Given the description of an element on the screen output the (x, y) to click on. 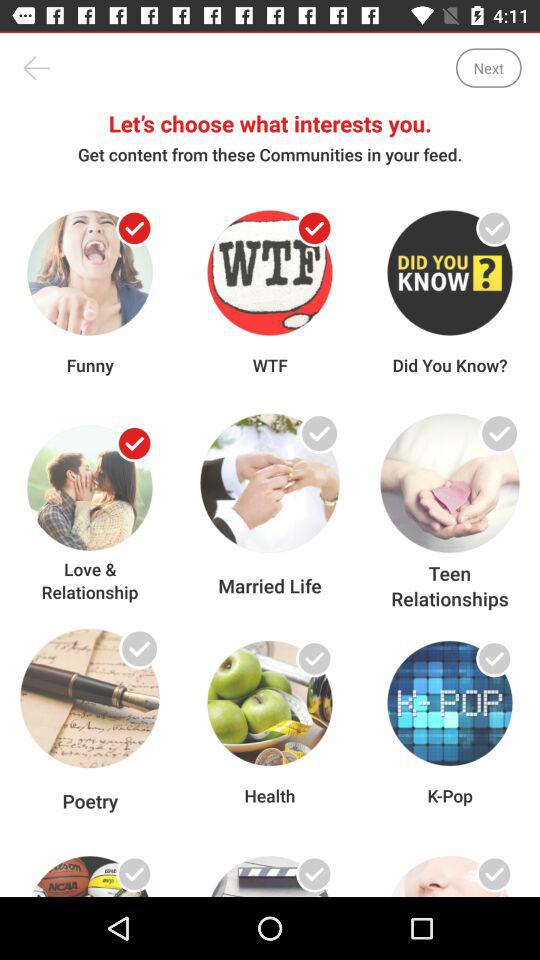
select interest (494, 228)
